Given the description of an element on the screen output the (x, y) to click on. 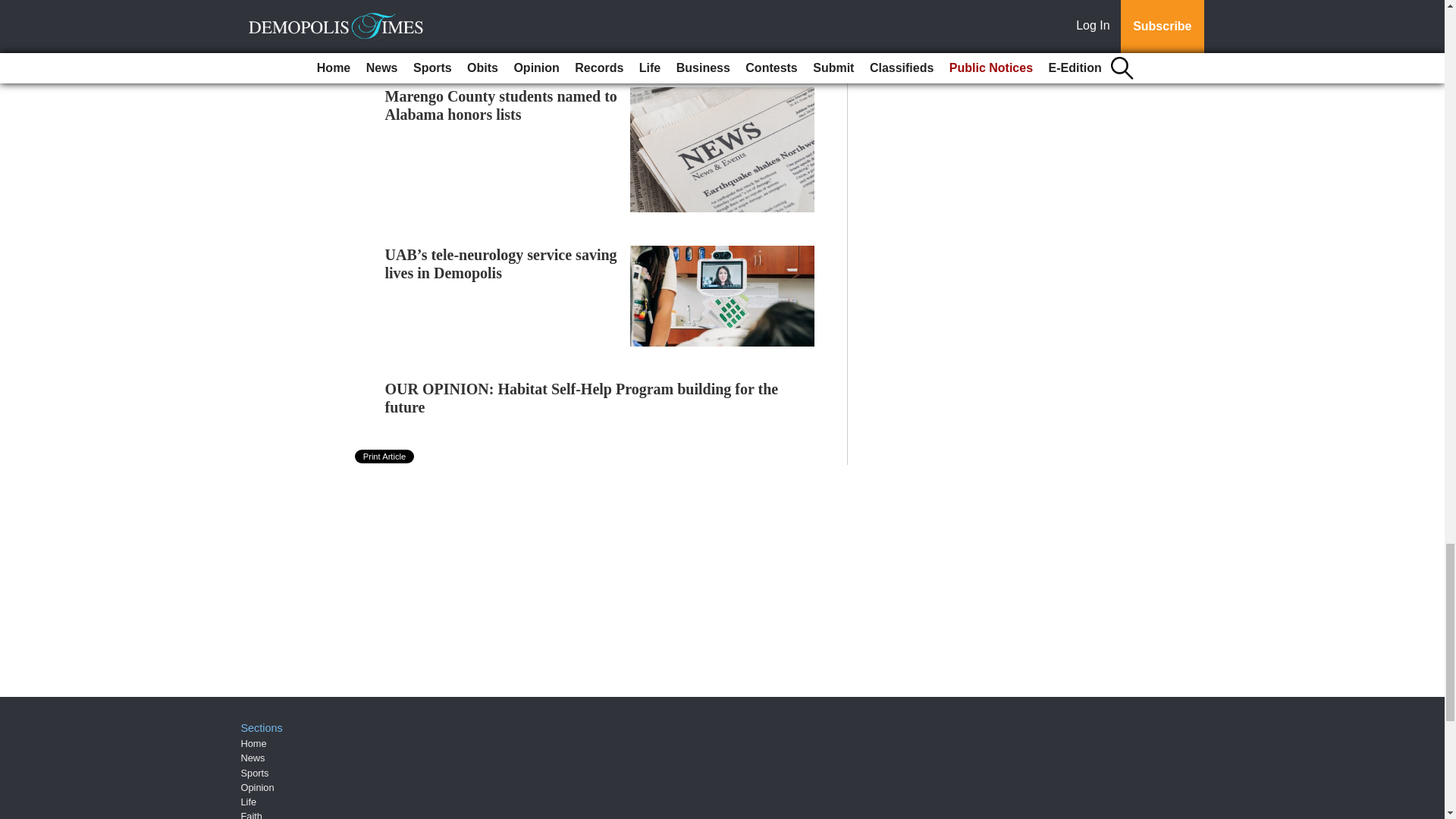
Sports (255, 772)
Marengo County students named to Alabama honors lists (501, 104)
Print Article (384, 456)
Home (253, 743)
News (252, 757)
Marengo County students named to Alabama honors lists (501, 104)
Opinion (258, 787)
